Given the description of an element on the screen output the (x, y) to click on. 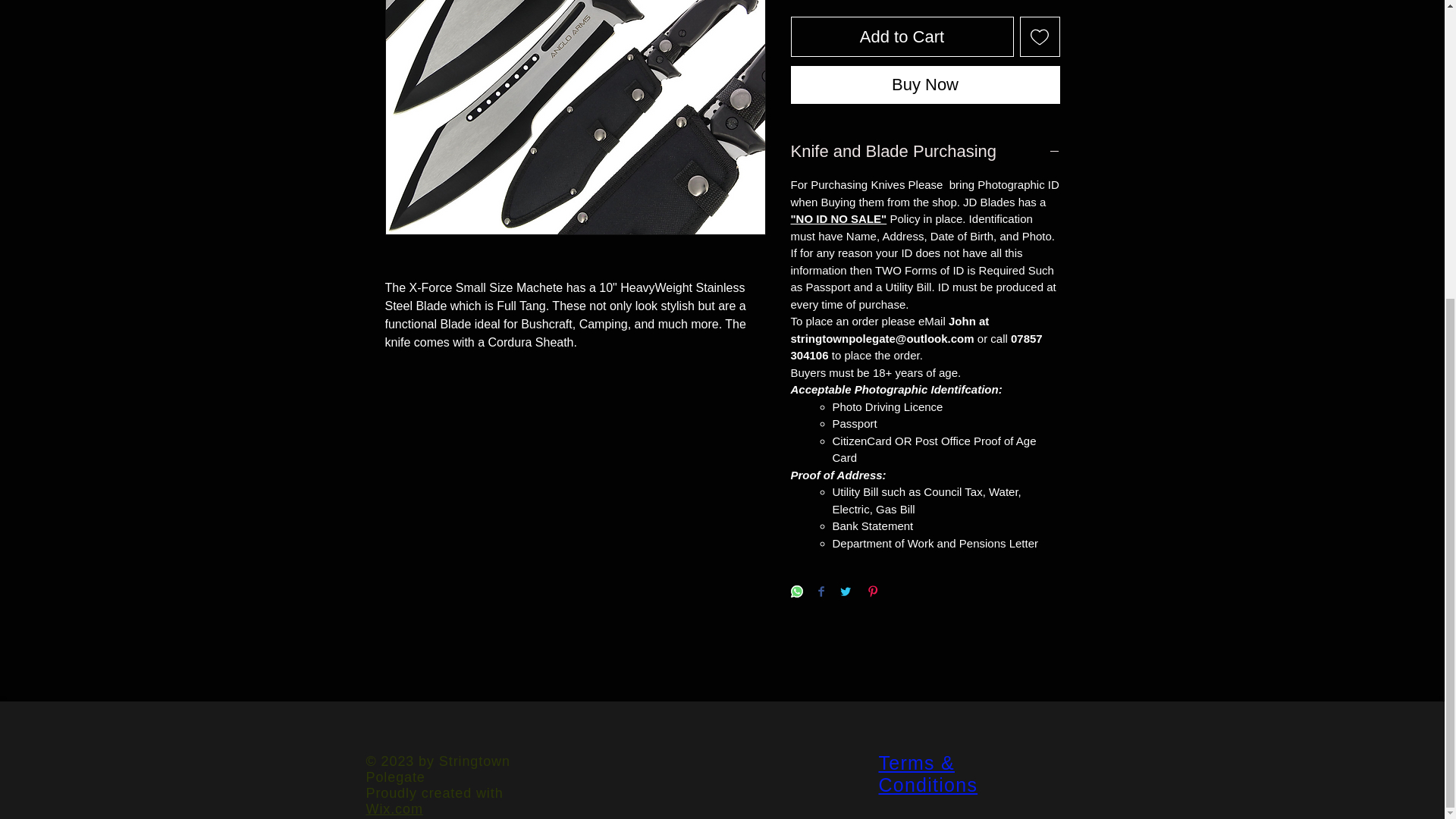
Buy Now (924, 85)
Knife and Blade Purchasing (924, 151)
Add to Cart (901, 36)
